Given the description of an element on the screen output the (x, y) to click on. 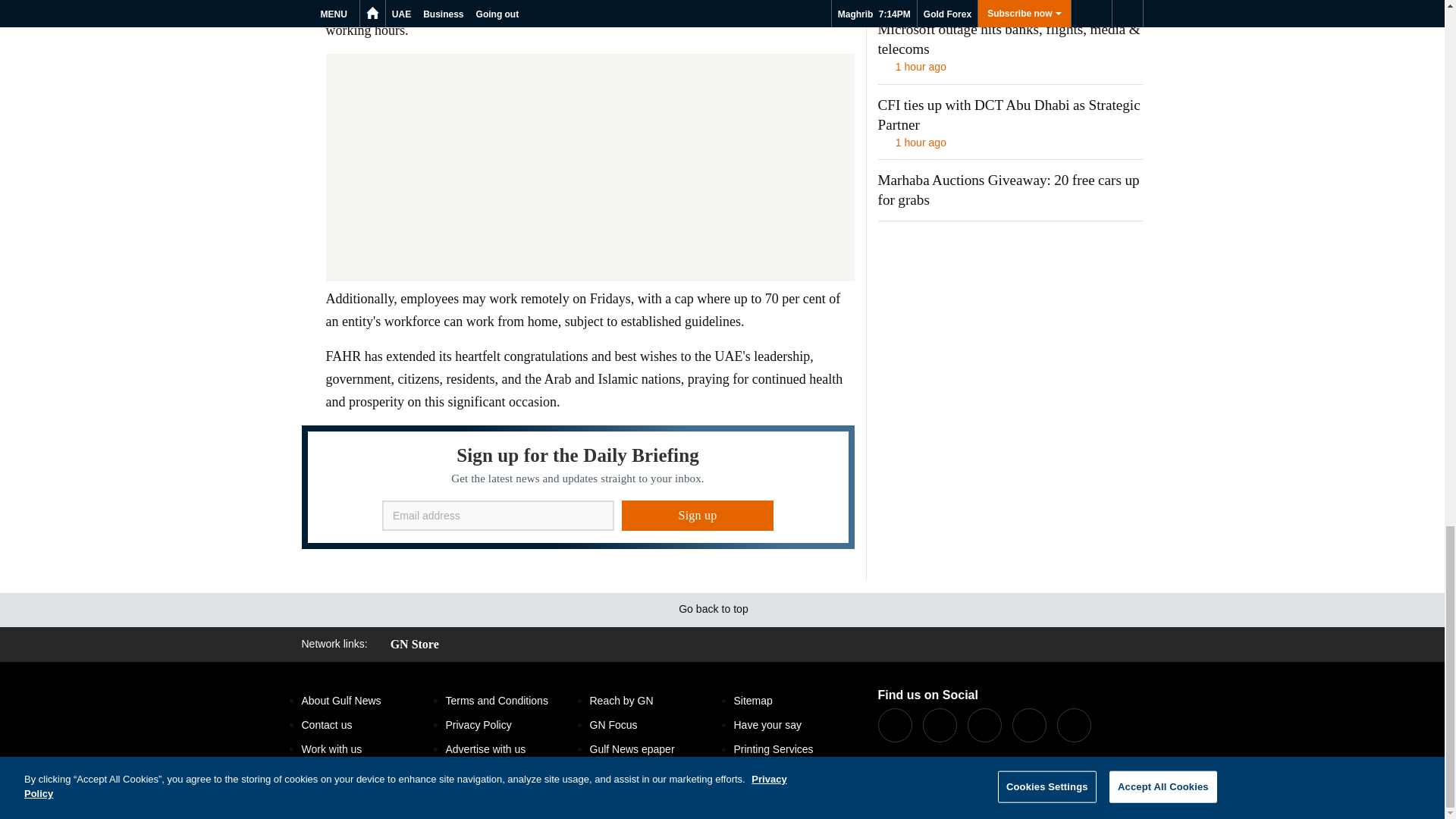
Sign up for the Daily Briefing (577, 486)
